Given the description of an element on the screen output the (x, y) to click on. 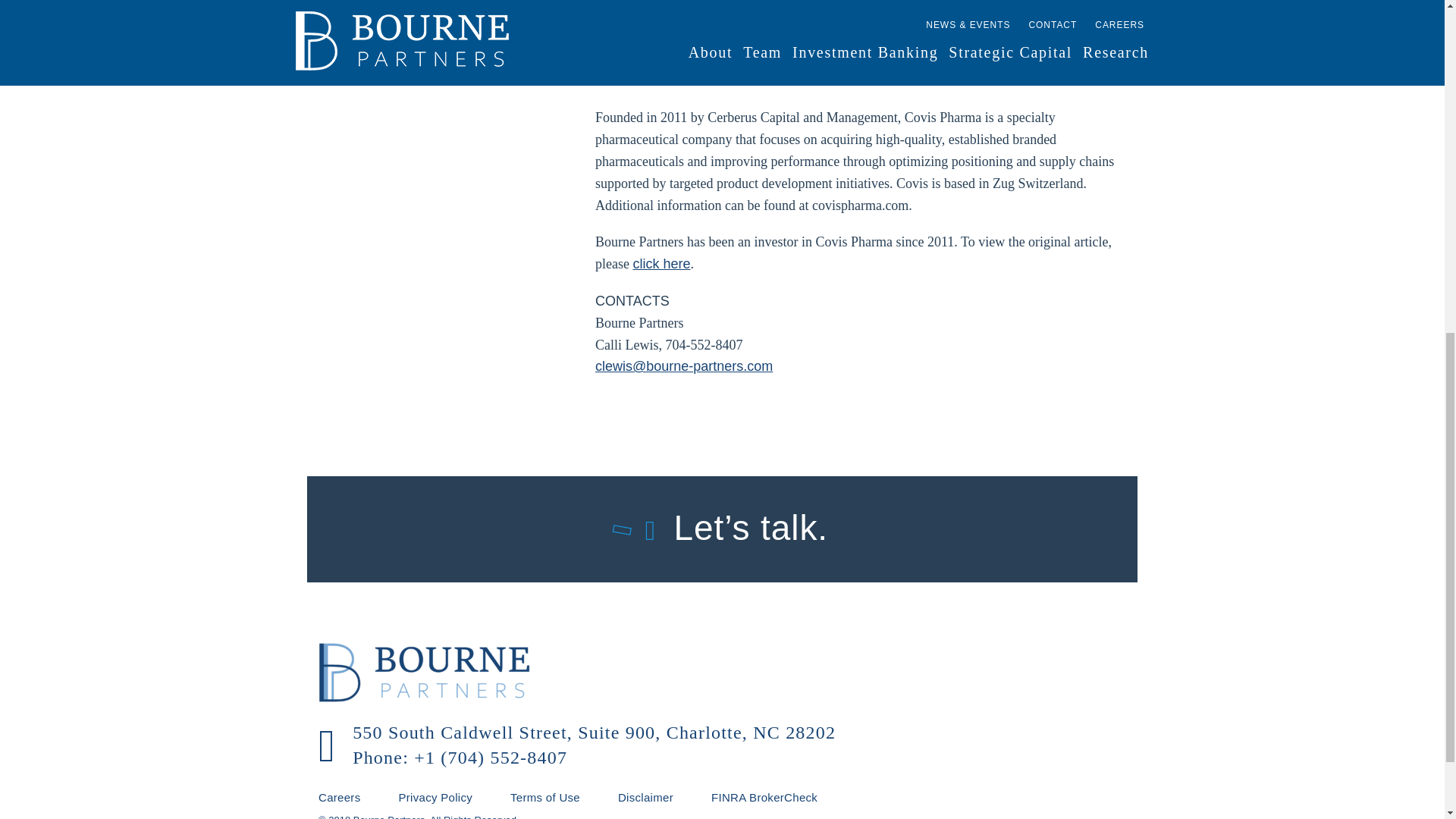
Careers (357, 797)
click here (660, 263)
